Given the description of an element on the screen output the (x, y) to click on. 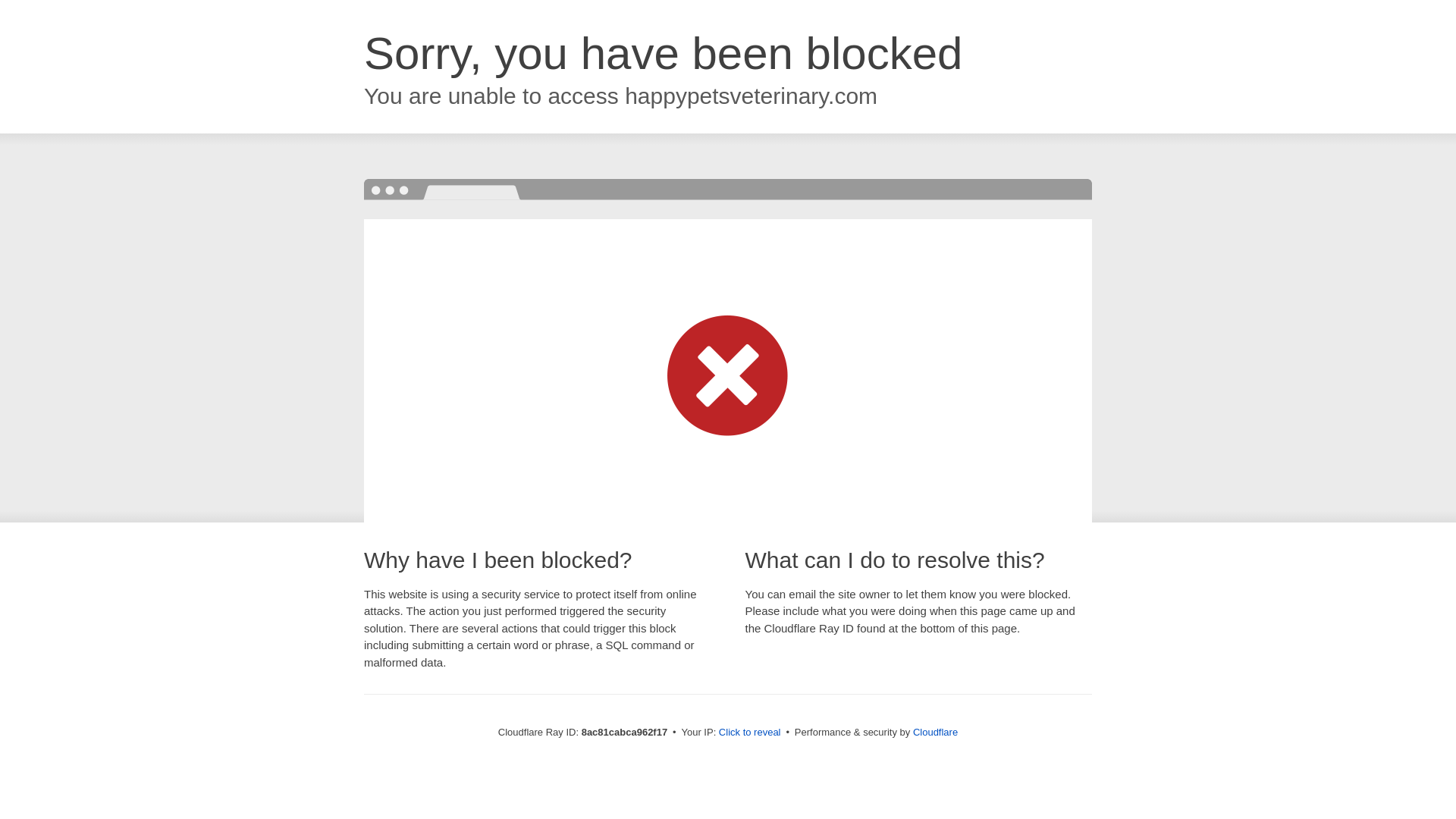
Cloudflare (935, 731)
Click to reveal (749, 732)
